Given the description of an element on the screen output the (x, y) to click on. 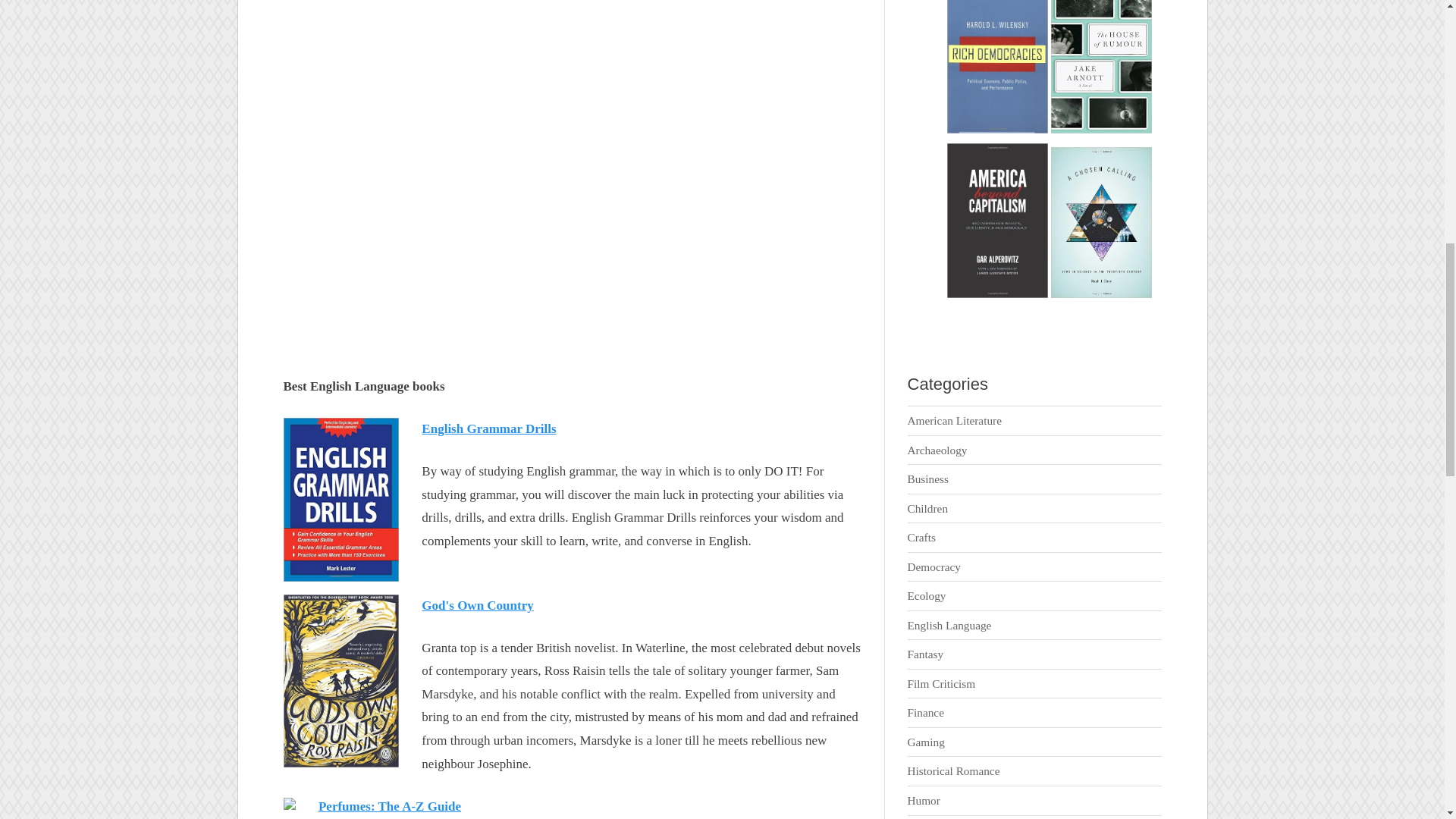
English Grammar Drills (489, 428)
The House of Rumour: A Novel by Jake Arnott (1101, 130)
Perfumes: The A-Z Guide (389, 806)
God's Own Country (477, 605)
